Given the description of an element on the screen output the (x, y) to click on. 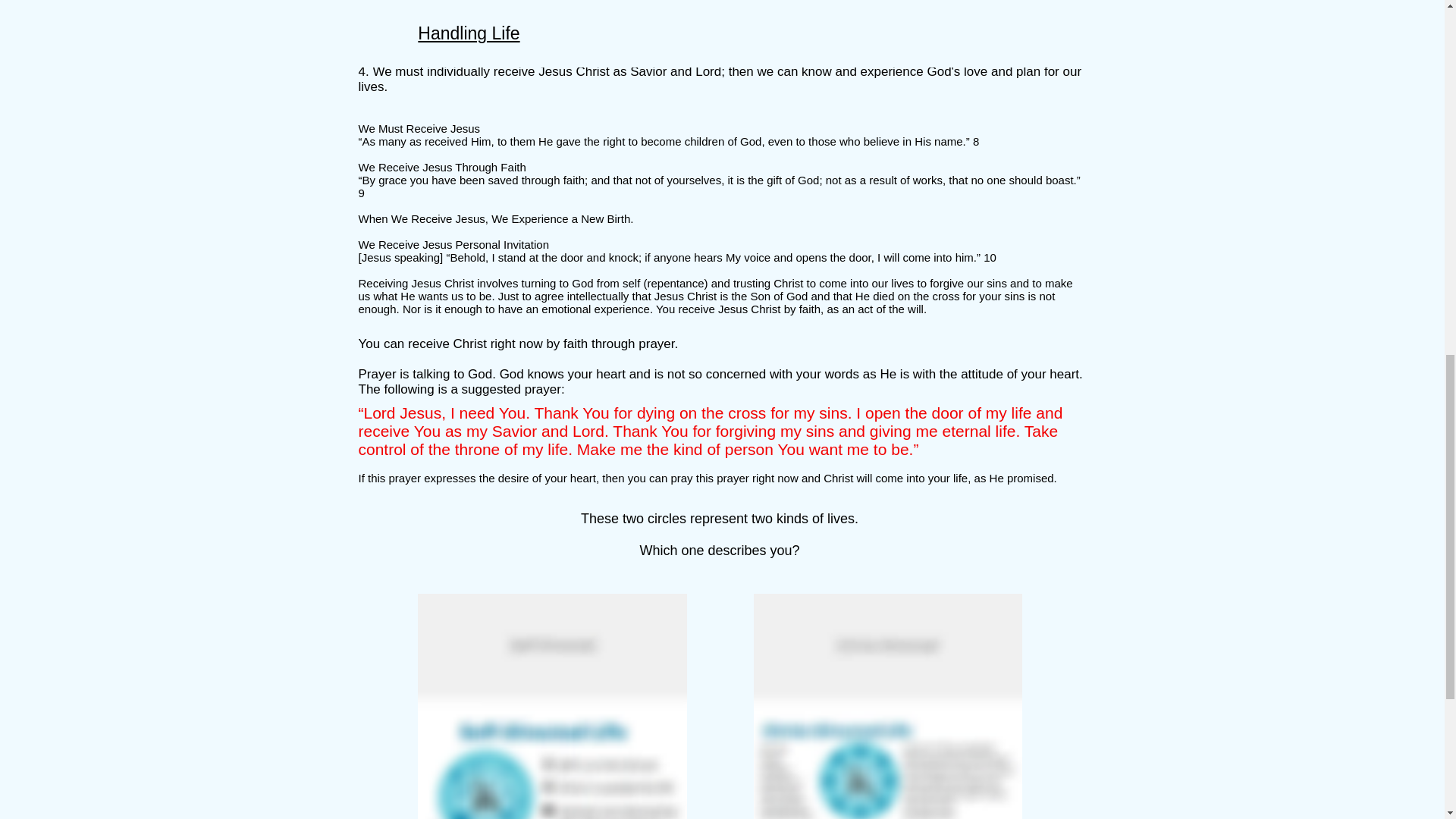
Is Christ at the center of you life? (888, 706)
Is your life self-directed? (550, 706)
